Given the description of an element on the screen output the (x, y) to click on. 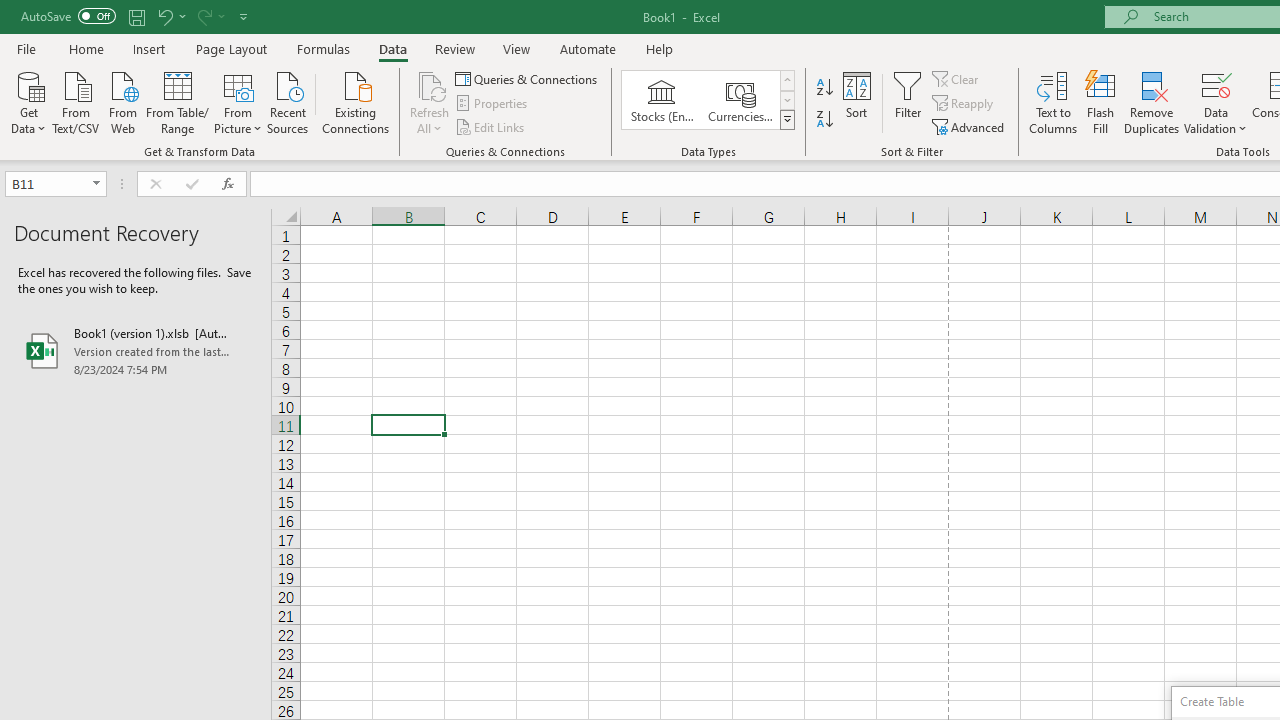
Filter (908, 102)
Existing Connections (355, 101)
From Web (122, 101)
Sort... (856, 102)
Stocks (English) (662, 100)
Queries & Connections (527, 78)
